Given the description of an element on the screen output the (x, y) to click on. 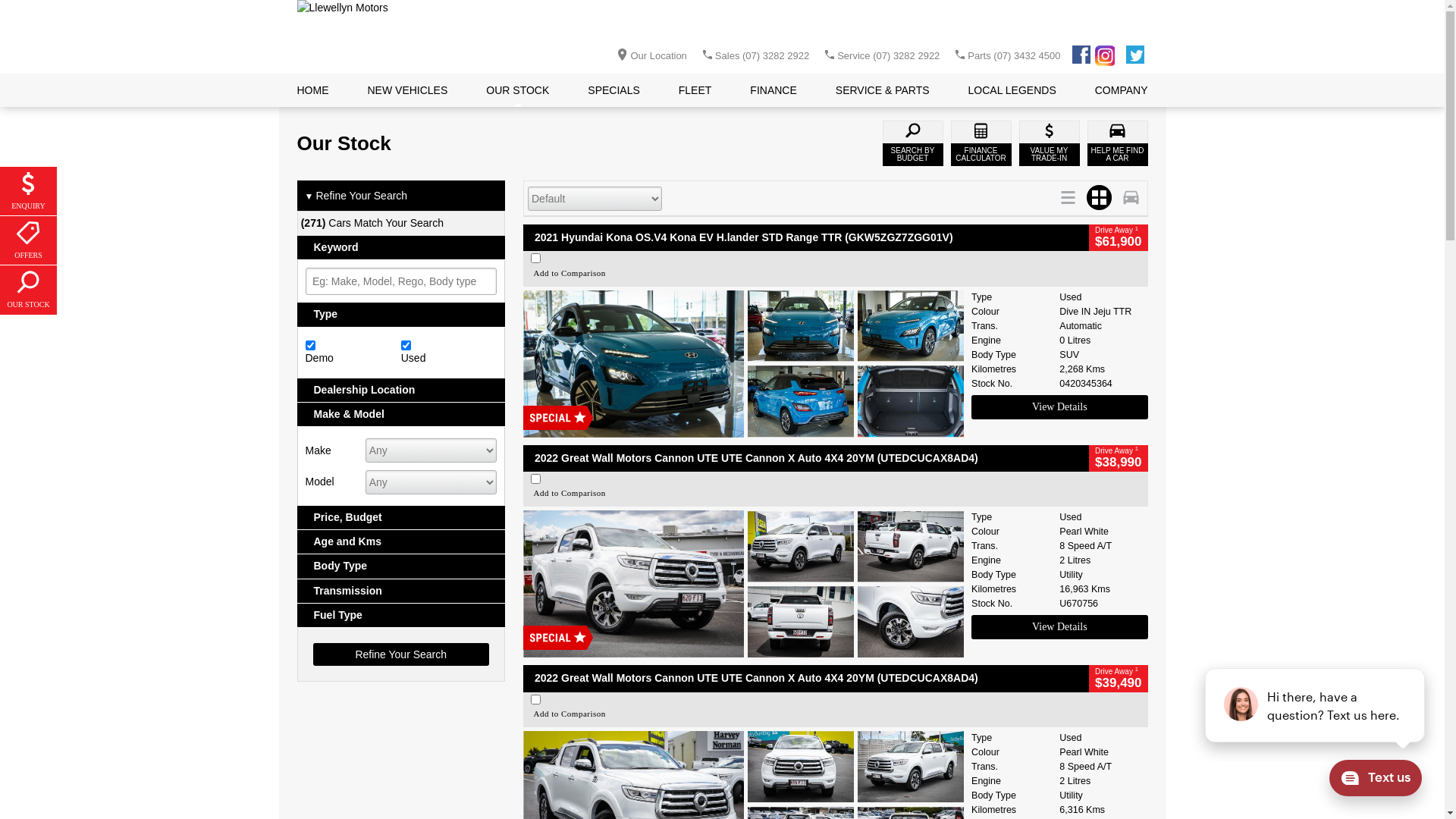
SEARCH BY BUDGET Element type: text (912, 143)
Price, Budget Element type: text (401, 517)
twitter Element type: text (1135, 58)
OUR STOCK Element type: text (28, 289)
Fuel Type Element type: text (401, 615)
HELP ME FIND A CAR Element type: text (1117, 143)
Type Element type: text (401, 314)
ENQUIRY Element type: text (28, 191)
facebook Element type: text (1080, 58)
OUR STOCK Element type: text (517, 89)
instagram Element type: text (1107, 59)
NEW VEHICLES Element type: text (407, 89)
Keyword Element type: text (401, 247)
LOCAL LEGENDS Element type: text (1012, 89)
FINANCE Element type: text (772, 89)
OFFERS Element type: text (28, 240)
Drive Away 1
$38,990 Element type: text (1117, 458)
View Details Element type: text (1059, 627)
podium webchat widget prompt Element type: hover (1315, 705)
Refine Your Search Element type: text (400, 654)
VALUE MY TRADE-IN Element type: text (1049, 143)
Service (07) 3282 2922 Element type: text (888, 55)
Drive Away 1
$61,900 Element type: text (1117, 237)
COMPANY Element type: text (1121, 89)
SERVICE & PARTS Element type: text (882, 89)
Body Type Element type: text (401, 565)
Parts (07) 3432 4500 Element type: text (1013, 55)
Our Location Element type: text (647, 55)
HOME Element type: text (313, 89)
FLEET Element type: text (695, 89)
Sales (07) 3282 2922 Element type: text (762, 55)
Transmission Element type: text (401, 590)
Drive Away 1
$39,490 Element type: text (1117, 678)
Dealership Location Element type: text (401, 389)
FINANCE CALCULATOR Element type: text (980, 143)
View Details Element type: text (1059, 407)
SPECIALS Element type: text (613, 89)
Age and Kms Element type: text (401, 541)
Make & Model Element type: text (401, 414)
